Given the description of an element on the screen output the (x, y) to click on. 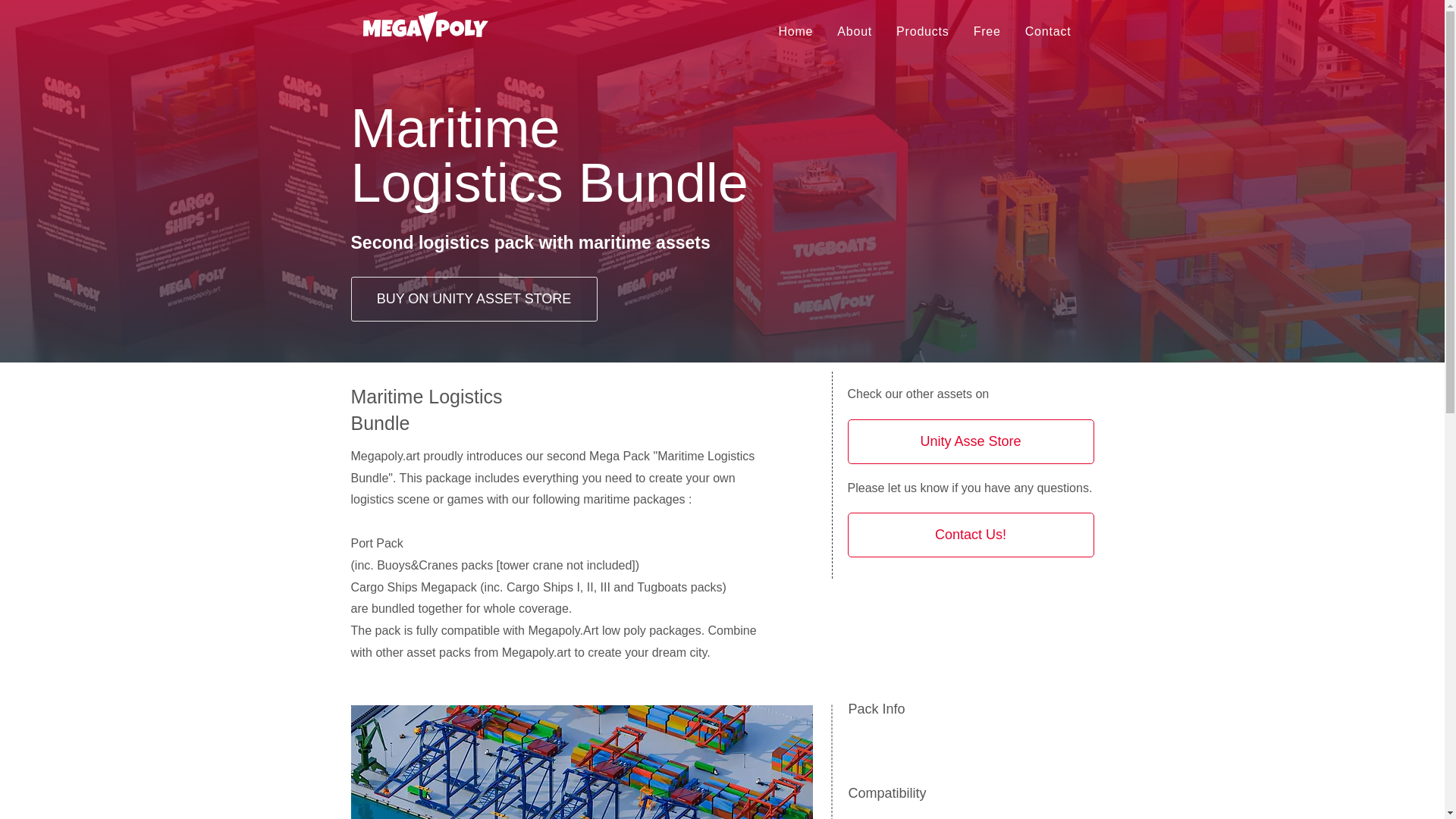
Free (986, 31)
BUY ON UNITY ASSET STORE (473, 298)
Home (826, 31)
Unity Asse Store (795, 31)
Products (970, 441)
About (922, 31)
Contact (854, 31)
Contact Us! (1048, 31)
